Given the description of an element on the screen output the (x, y) to click on. 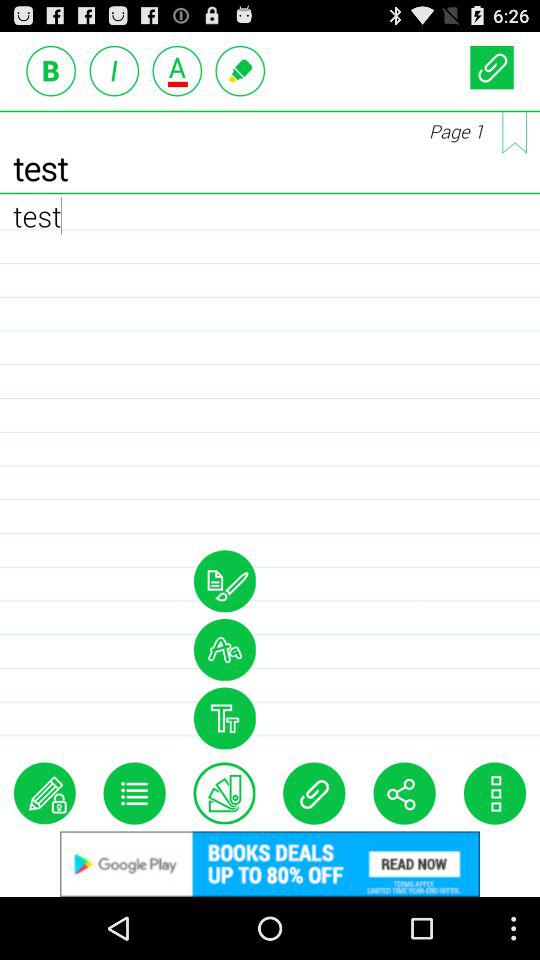
more tools (134, 793)
